Given the description of an element on the screen output the (x, y) to click on. 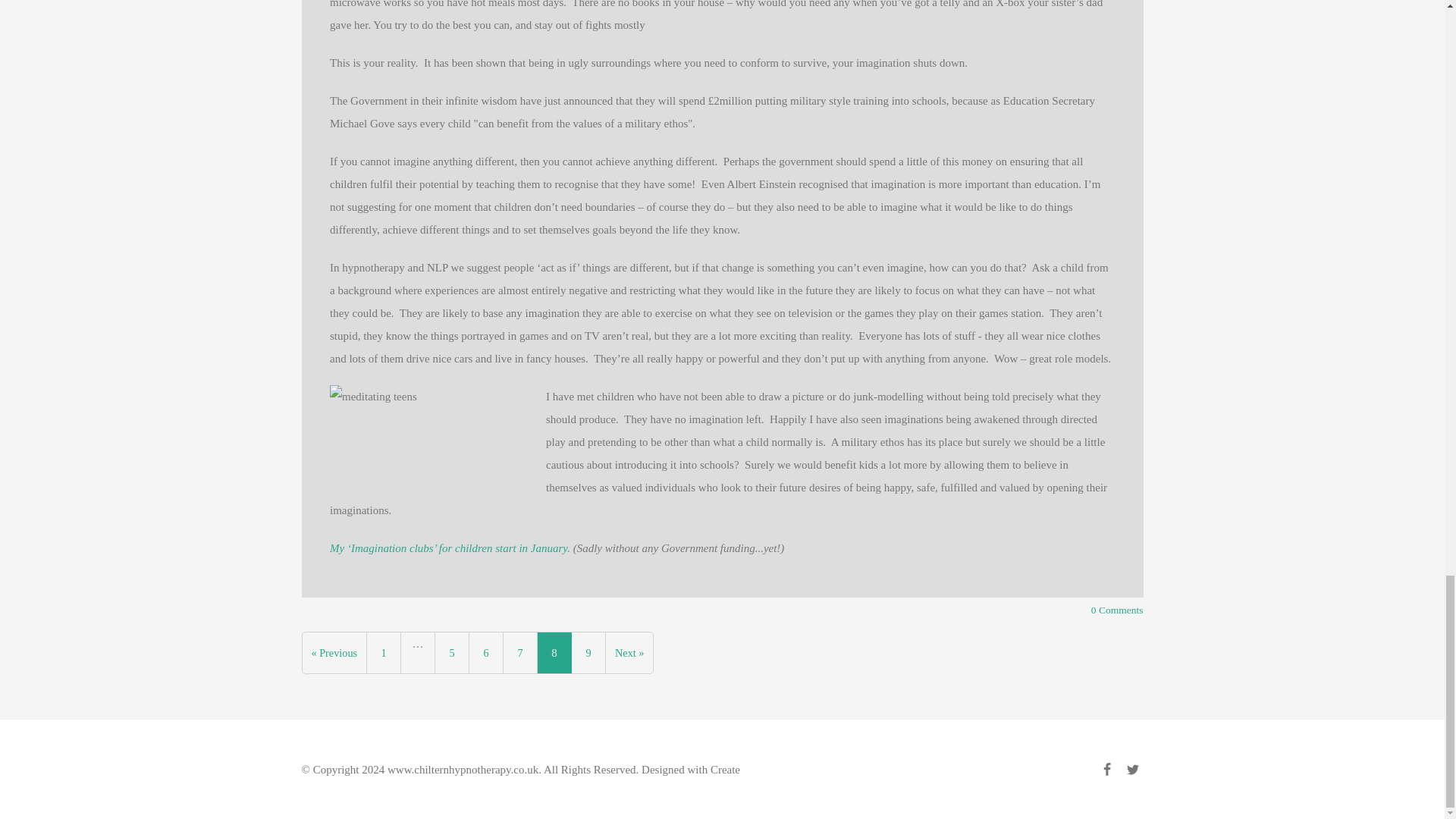
facebook (1106, 771)
meditating teens (438, 440)
twitter (1132, 771)
